Given the description of an element on the screen output the (x, y) to click on. 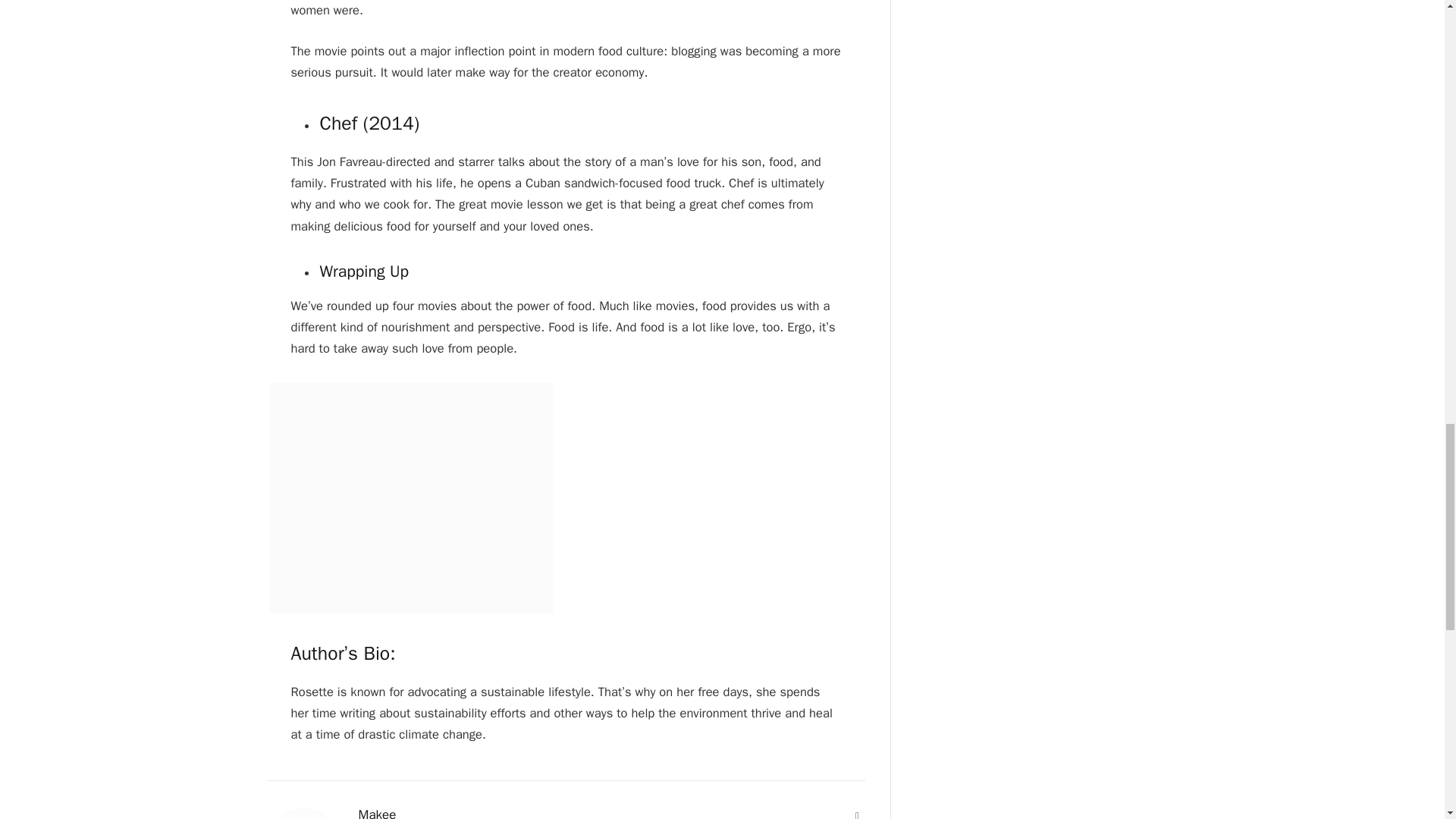
Website (856, 814)
Makee (377, 813)
Website (856, 814)
Posts by Makee (377, 813)
